Given the description of an element on the screen output the (x, y) to click on. 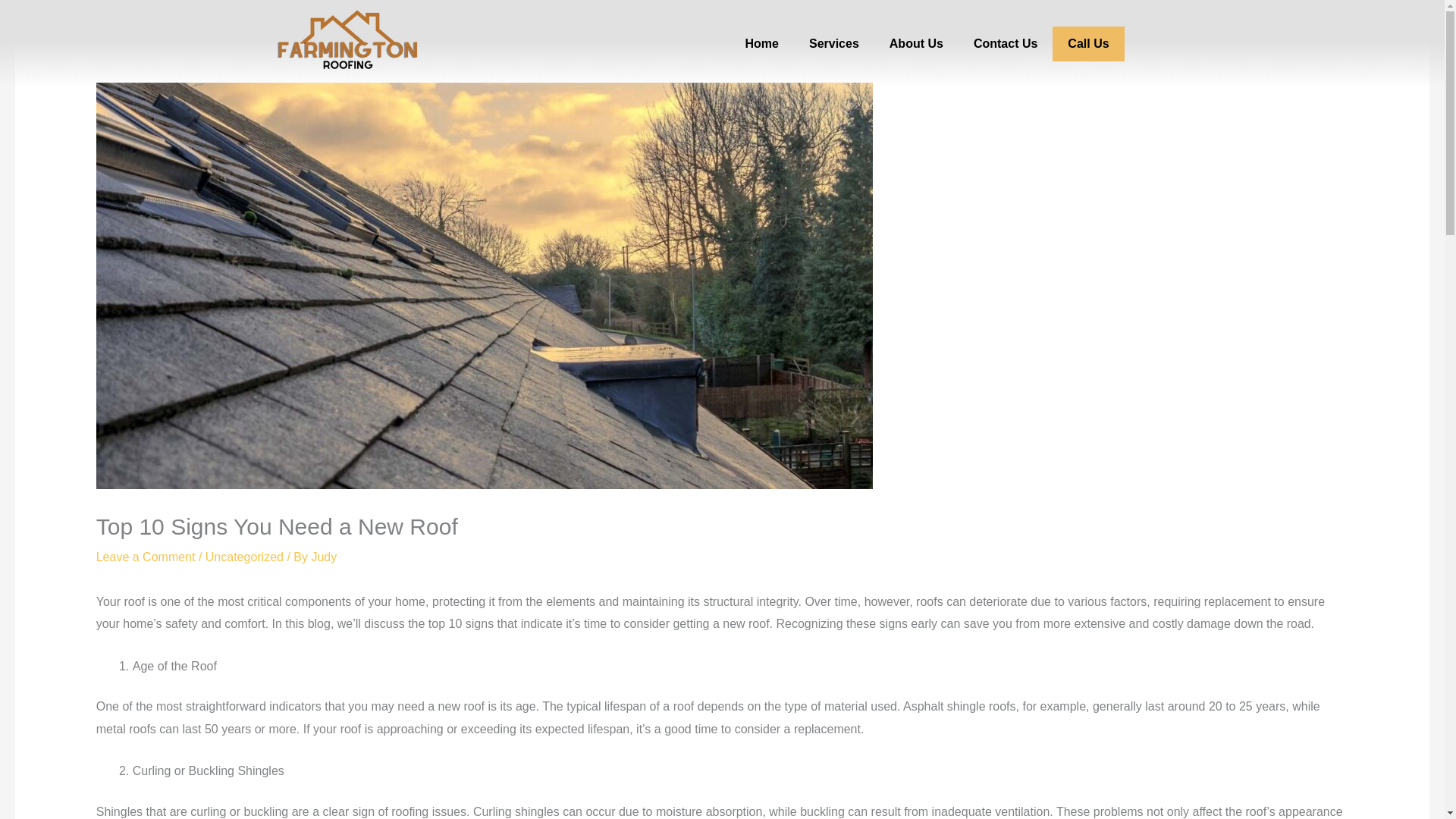
Call Us (1088, 42)
Contact Us (1005, 42)
Judy (323, 556)
Uncategorized (244, 556)
Services (834, 42)
View all posts by Judy (323, 556)
Home (761, 42)
About Us (916, 42)
Leave a Comment (145, 556)
